Given the description of an element on the screen output the (x, y) to click on. 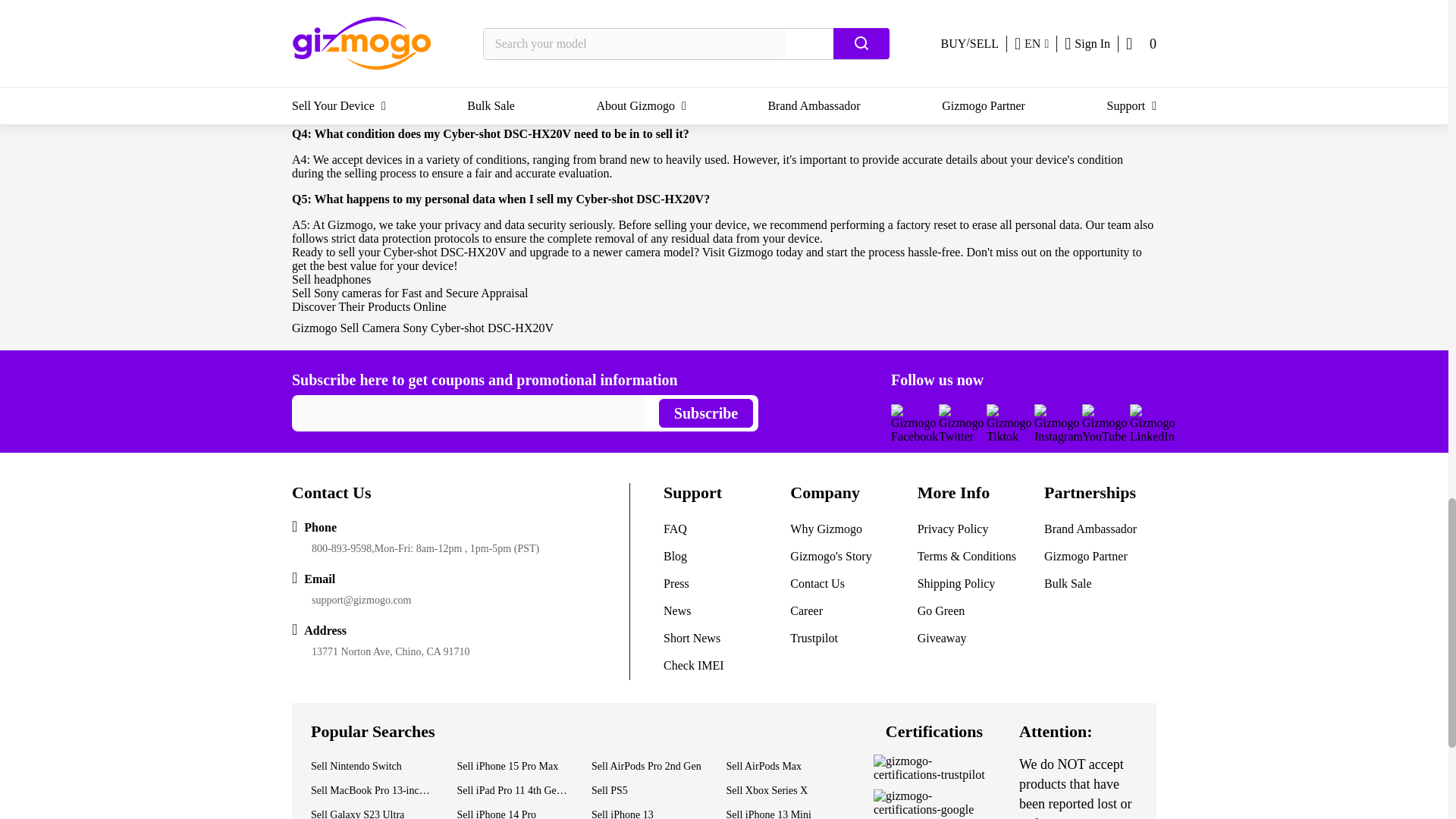
Sell headphones (331, 278)
Gizmogo (314, 327)
Sell Camera (371, 327)
Sell Sony cameras for Fast and Secure Appraisal (409, 292)
Subscribe (705, 412)
Sony (416, 327)
Discover Their Products Online (369, 306)
